Given the description of an element on the screen output the (x, y) to click on. 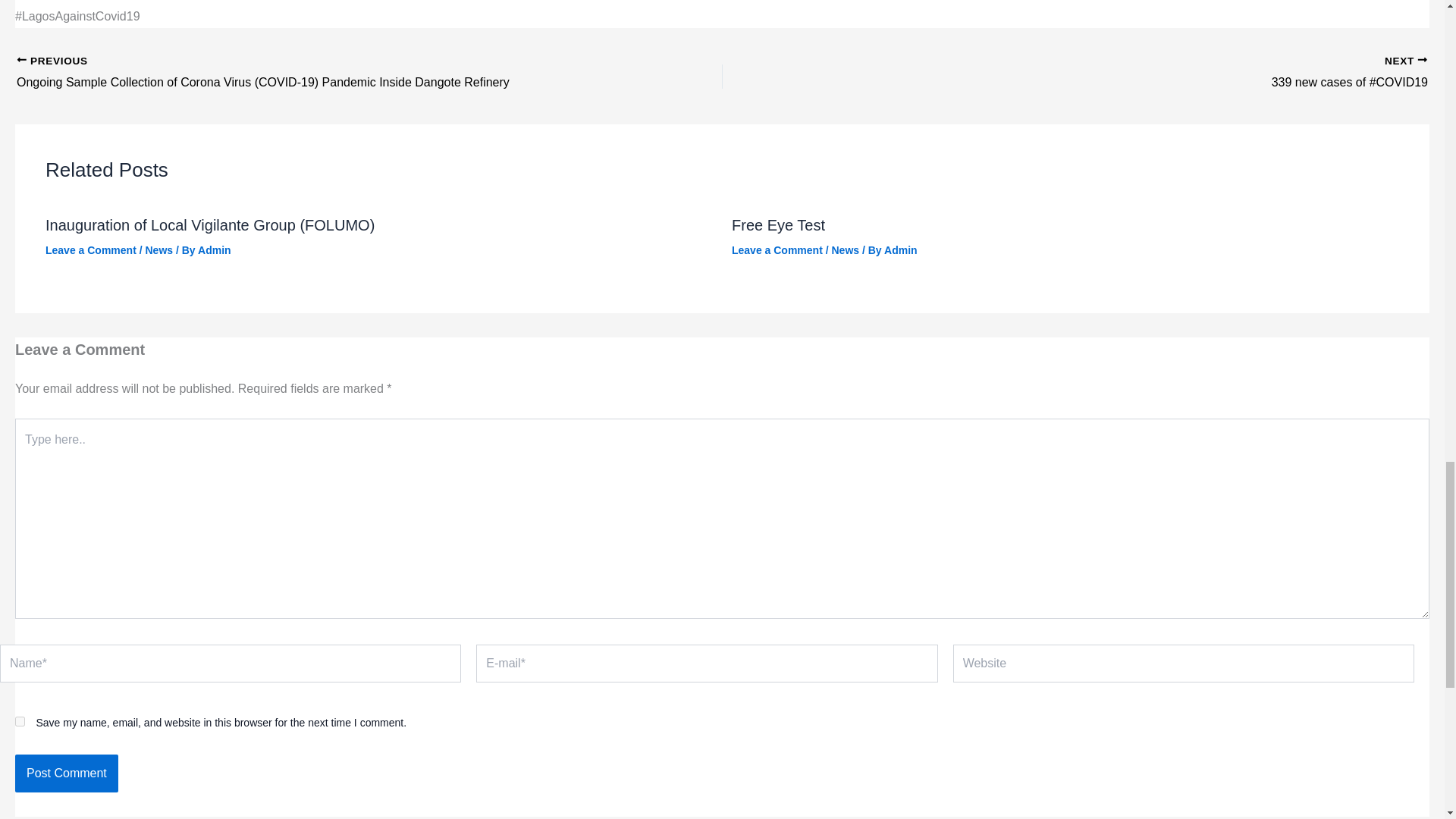
yes (19, 721)
Free Eye Test (778, 225)
Post Comment (65, 773)
Admin (900, 250)
Post Comment (65, 773)
News (845, 250)
View all posts by Admin (900, 250)
Leave a Comment (777, 250)
View all posts by Admin (214, 250)
Leave a Comment (90, 250)
